Given the description of an element on the screen output the (x, y) to click on. 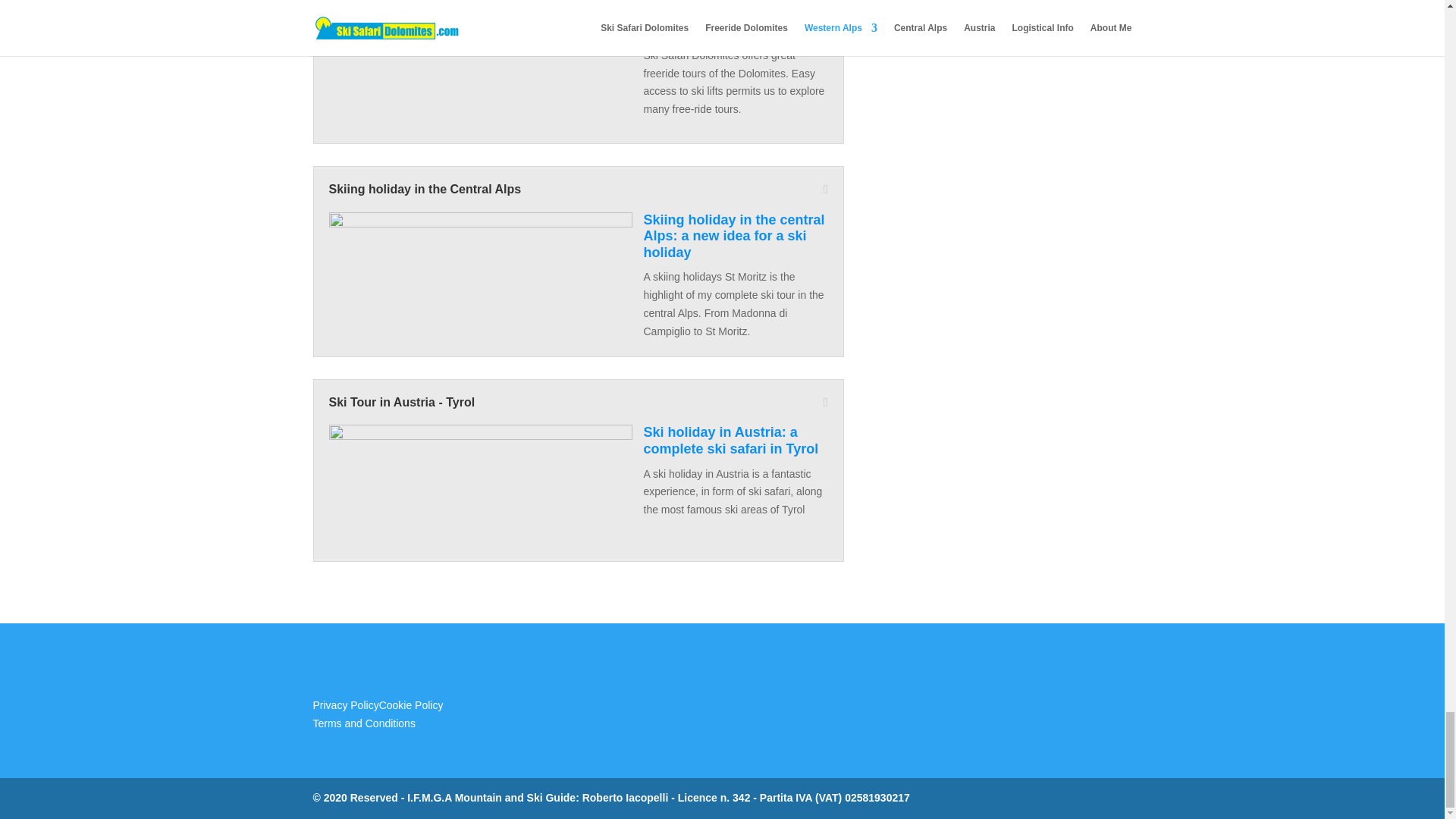
Terms and Conditions  (363, 723)
Cookie Policy  (411, 705)
Privacy Policy  (345, 705)
